Given the description of an element on the screen output the (x, y) to click on. 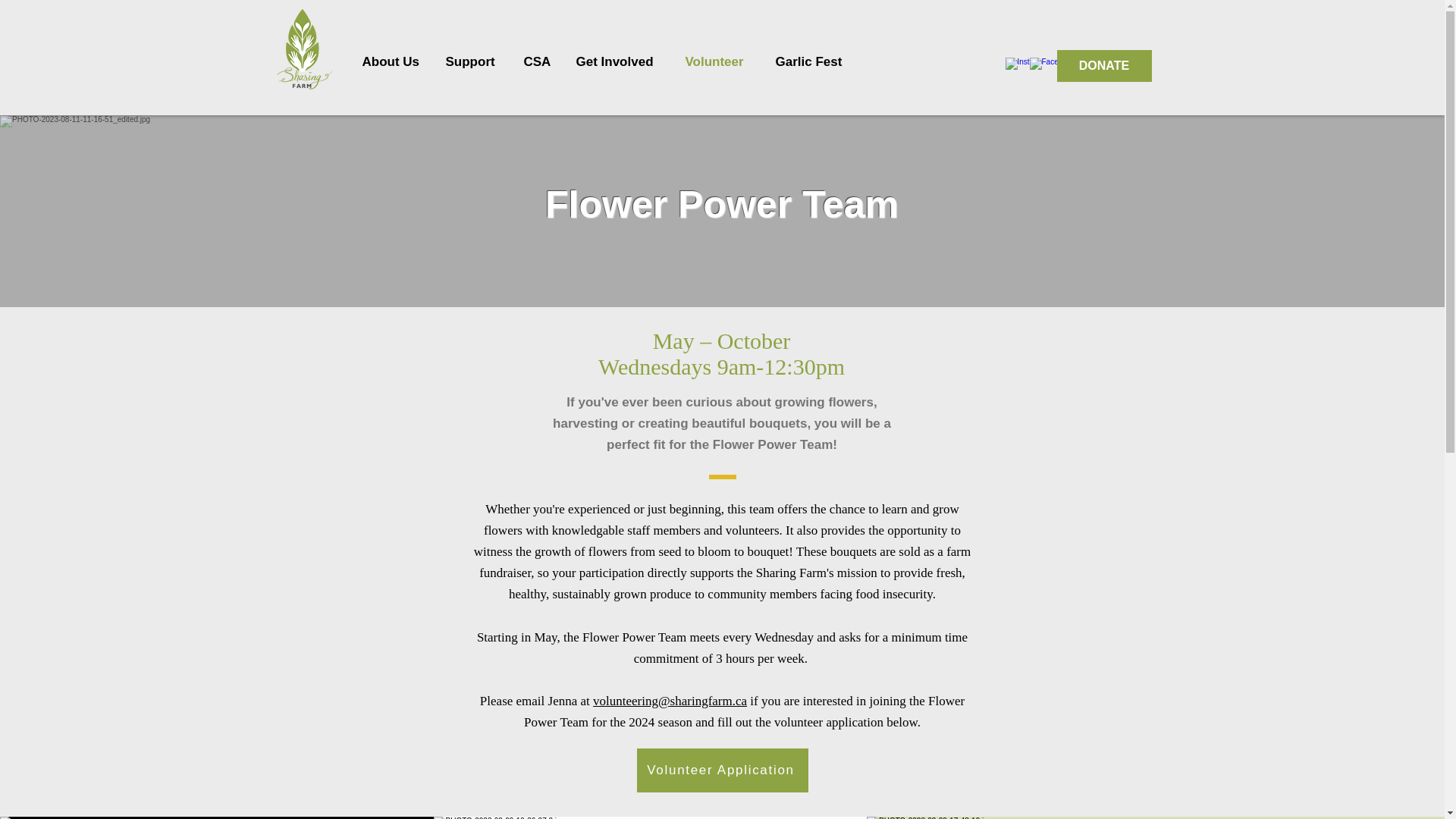
Support (472, 61)
CSA (538, 61)
DONATE (1104, 65)
About Us (391, 61)
Volunteer (717, 61)
Volunteer Application (722, 770)
Garlic Fest (812, 61)
Get Involved (618, 61)
